Given the description of an element on the screen output the (x, y) to click on. 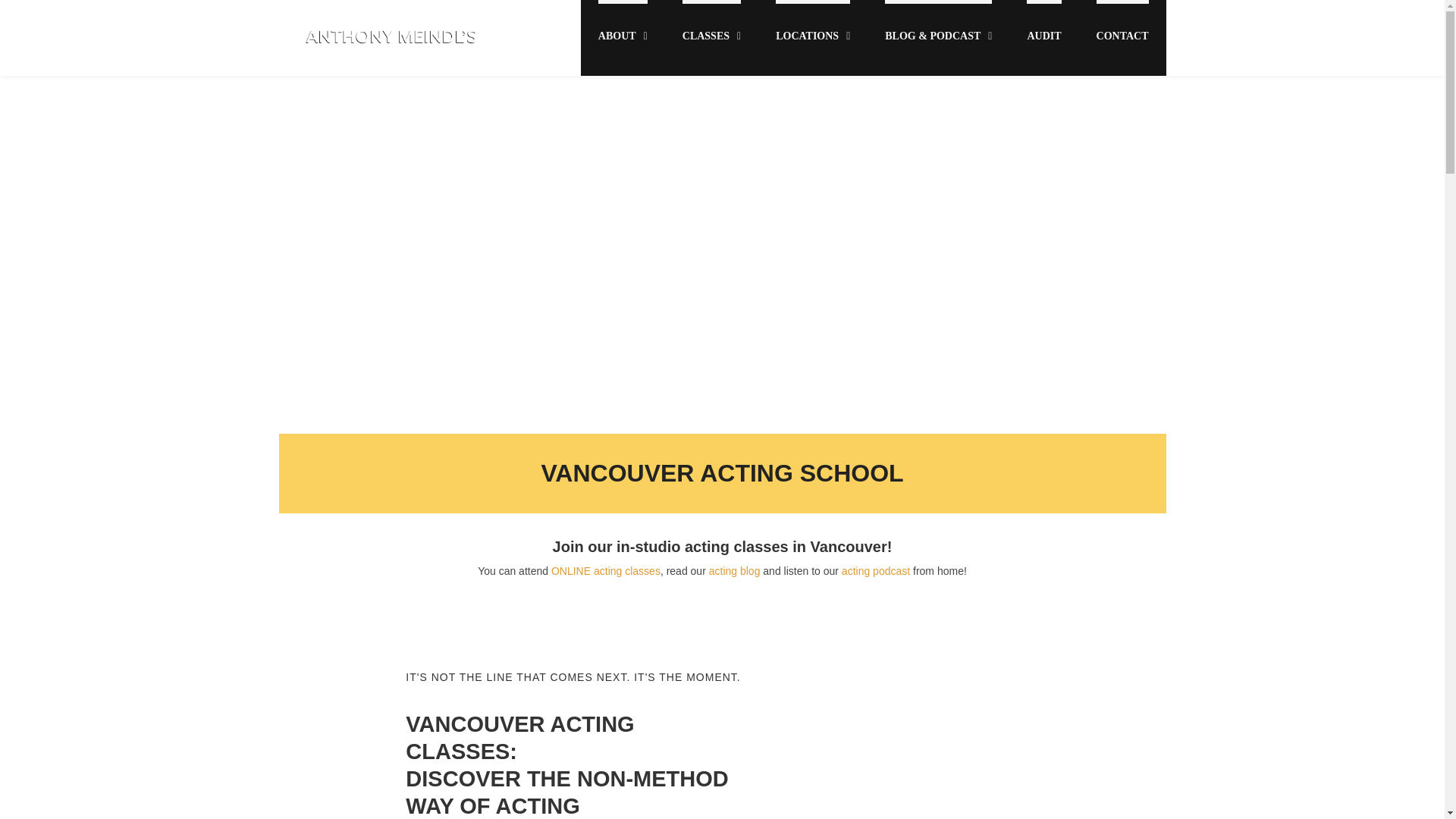
LOCATIONS (813, 38)
acting podcast (875, 571)
ONLINE acting classes (606, 571)
Anthony Meindl's Actor Workshop (389, 45)
acting blog (734, 571)
